Given the description of an element on the screen output the (x, y) to click on. 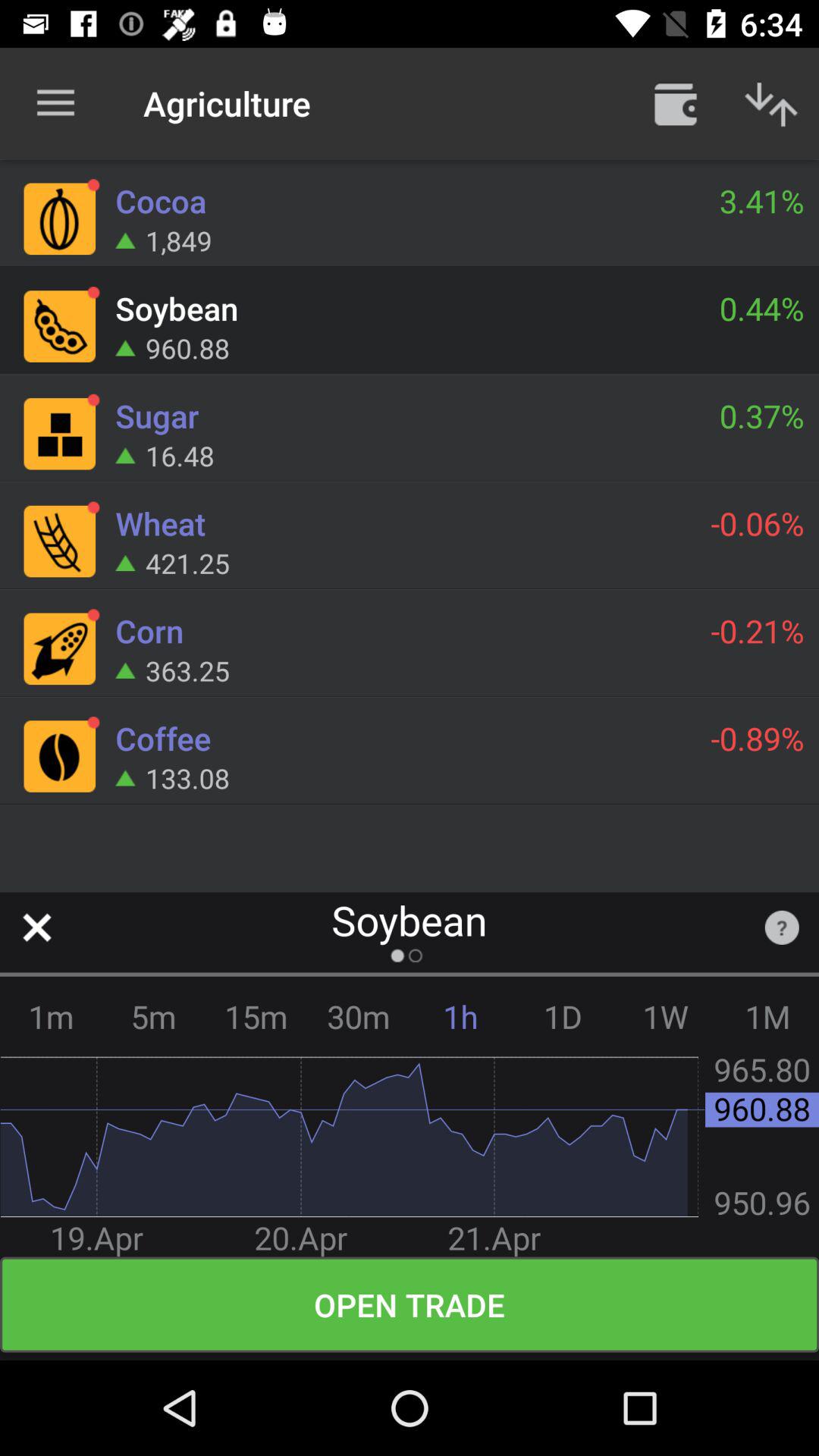
go to up or down (771, 103)
